Given the description of an element on the screen output the (x, y) to click on. 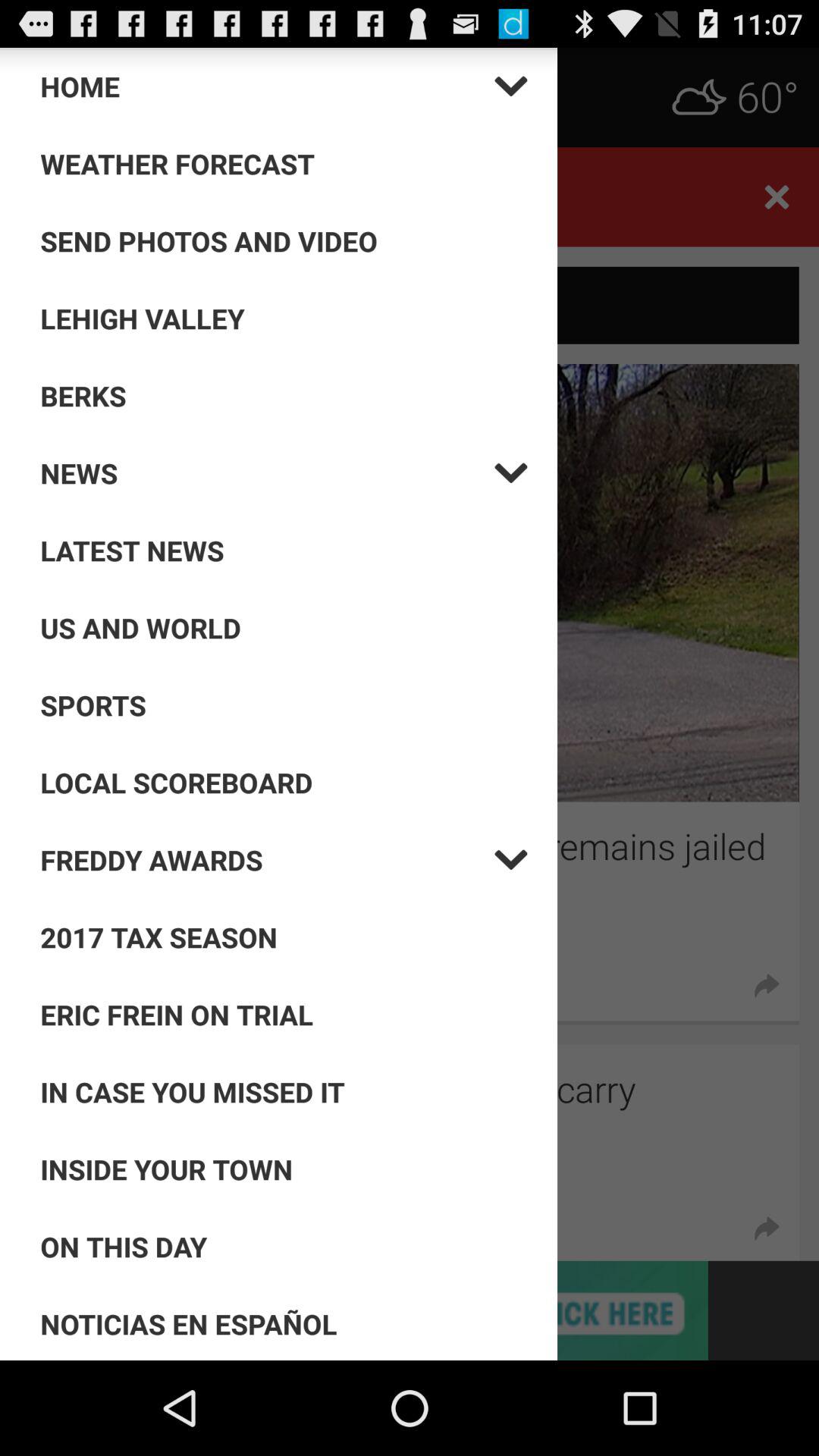
select the option above berks (283, 318)
click on the button below home (283, 163)
click on the drop down button below berks (267, 473)
move to the text shown above 2017 tax season (267, 860)
